Given the description of an element on the screen output the (x, y) to click on. 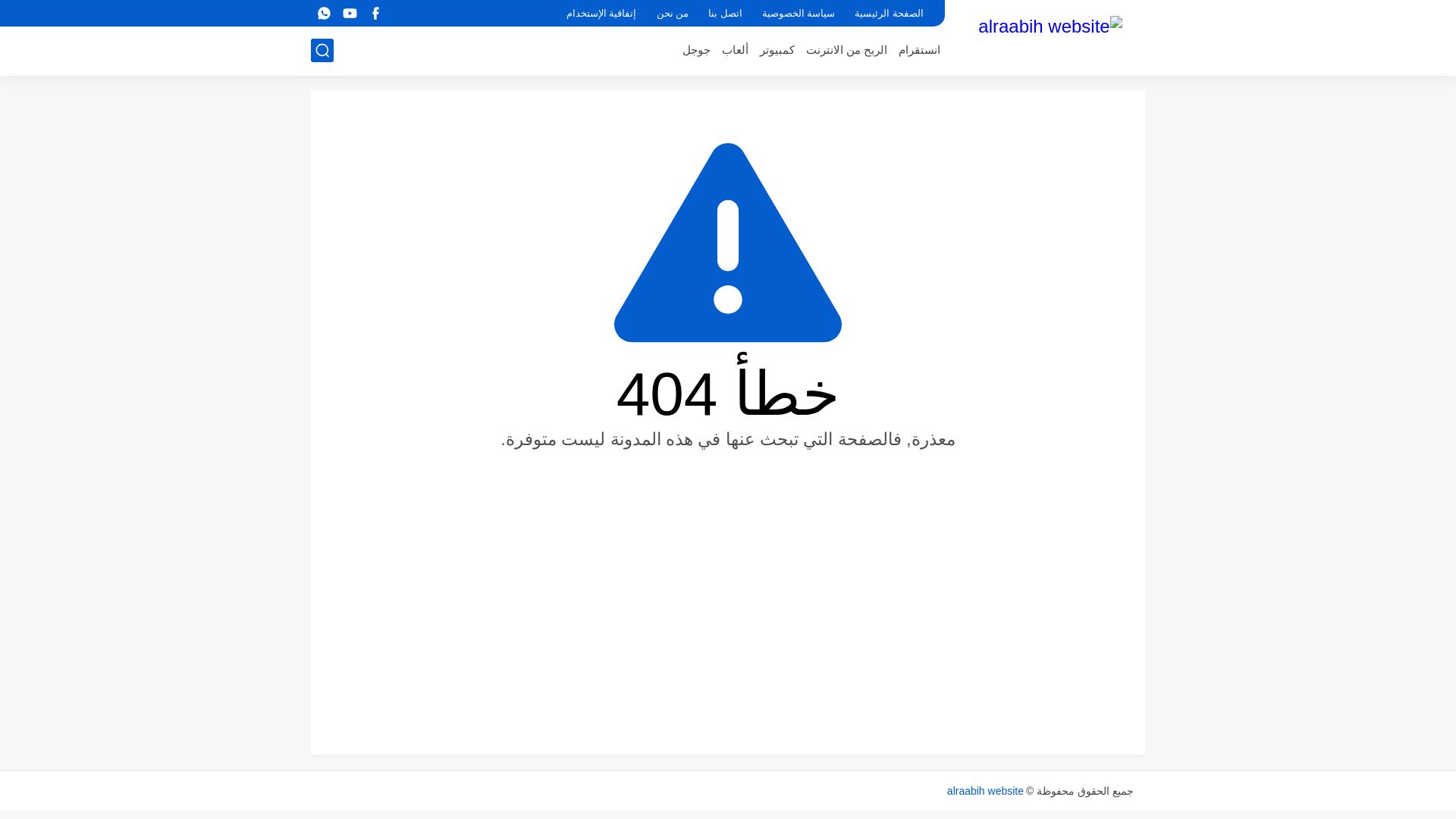
alraabih website (985, 790)
alraabih website (1049, 35)
facebook (375, 13)
youtube (349, 13)
